Given the description of an element on the screen output the (x, y) to click on. 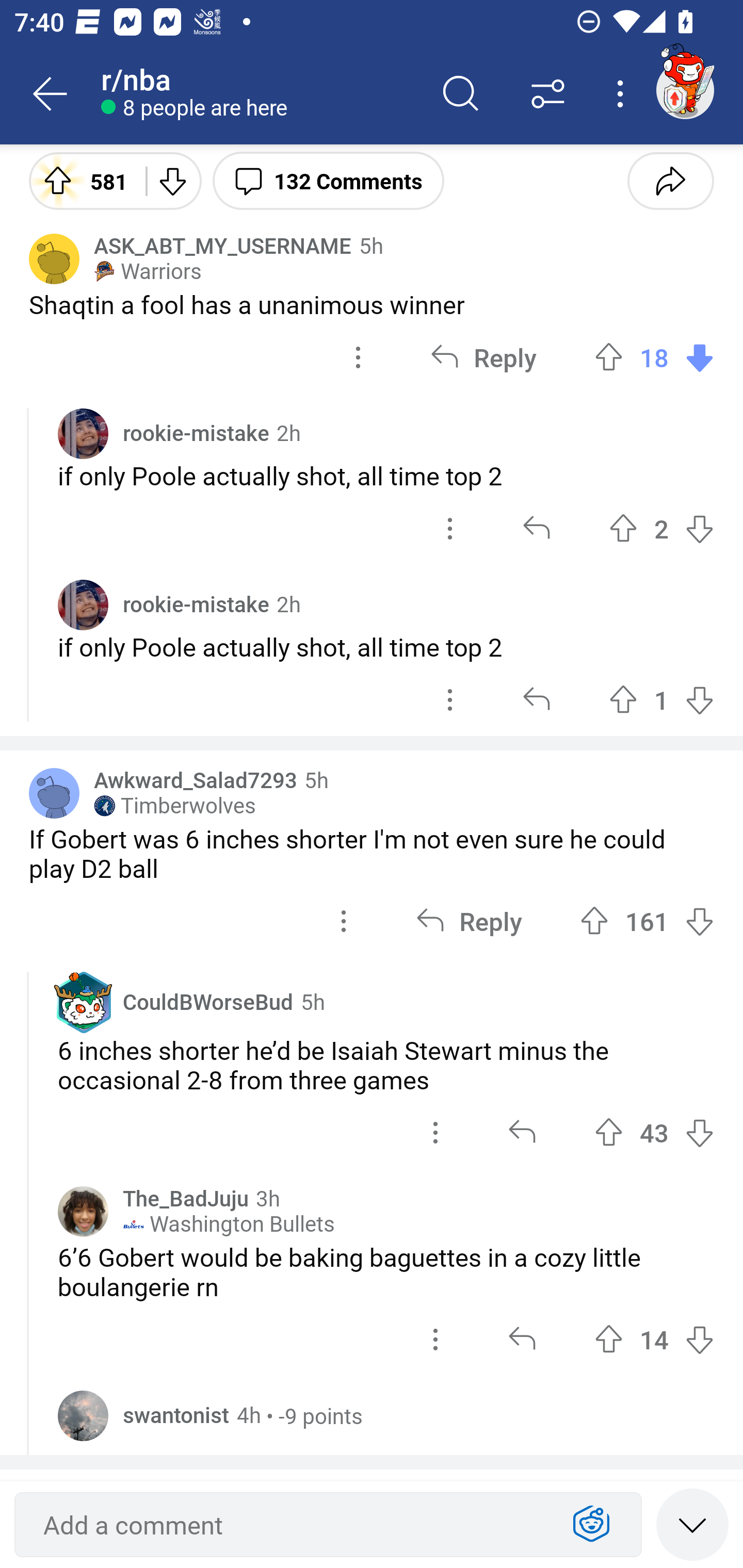
Back (50, 93)
TestAppium002 account (685, 90)
Search comments (460, 93)
Sort comments (547, 93)
More options (623, 93)
r/nba 8 people are here (259, 93)
Upvote 581 (79, 180)
Downvote (171, 180)
132 Comments (328, 180)
Share (670, 180)
Avatar (53, 258)
￼ Warriors (147, 270)
Shaqtin a fool has a unanimous winner (371, 303)
options (358, 357)
Reply (483, 357)
Upvote 18 18 votes Downvote (654, 357)
Avatar (82, 433)
if only Poole actually shot, all time top 2 (385, 474)
options (449, 528)
Upvote 2 2 votes Downvote (661, 528)
Avatar (82, 605)
if only Poole actually shot, all time top 2 (385, 646)
options (449, 699)
Upvote 1 1 vote Downvote (661, 699)
Avatar (53, 793)
￼ Timberwolves (174, 805)
options (343, 921)
Reply (469, 921)
Upvote 161 161 votes Downvote (647, 921)
options (435, 1132)
Upvote 43 43 votes Downvote (654, 1132)
Avatar (82, 1211)
￼ Washington Bullets (228, 1224)
options (435, 1339)
Upvote 14 14 votes Downvote (654, 1339)
Avatar (82, 1415)
Speed read (692, 1524)
Add a comment (291, 1524)
Show Expressions (590, 1524)
